Given the description of an element on the screen output the (x, y) to click on. 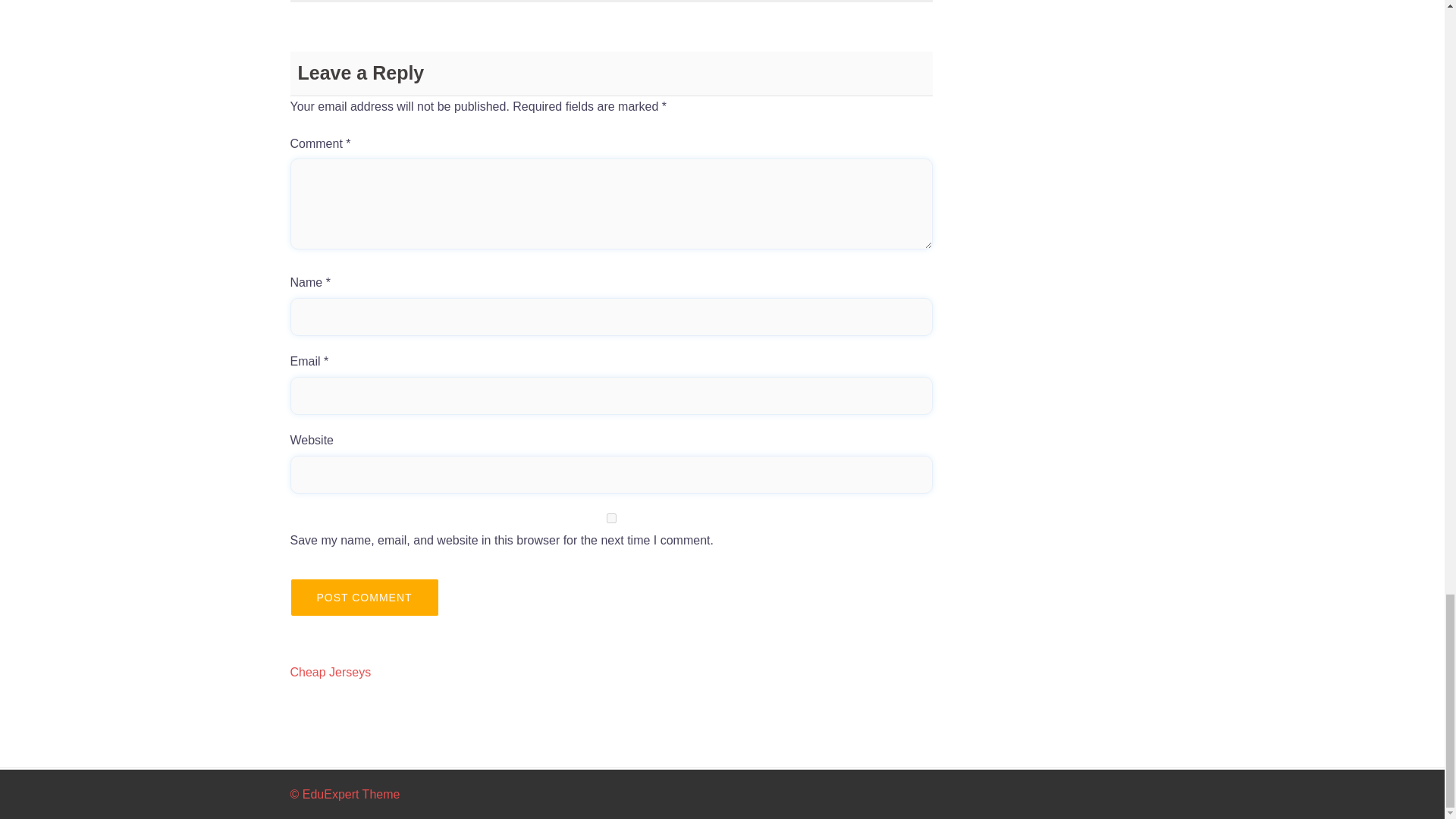
Post Comment (363, 597)
yes (611, 518)
Cheap Jerseys (330, 671)
Post Comment (363, 597)
